Given the description of an element on the screen output the (x, y) to click on. 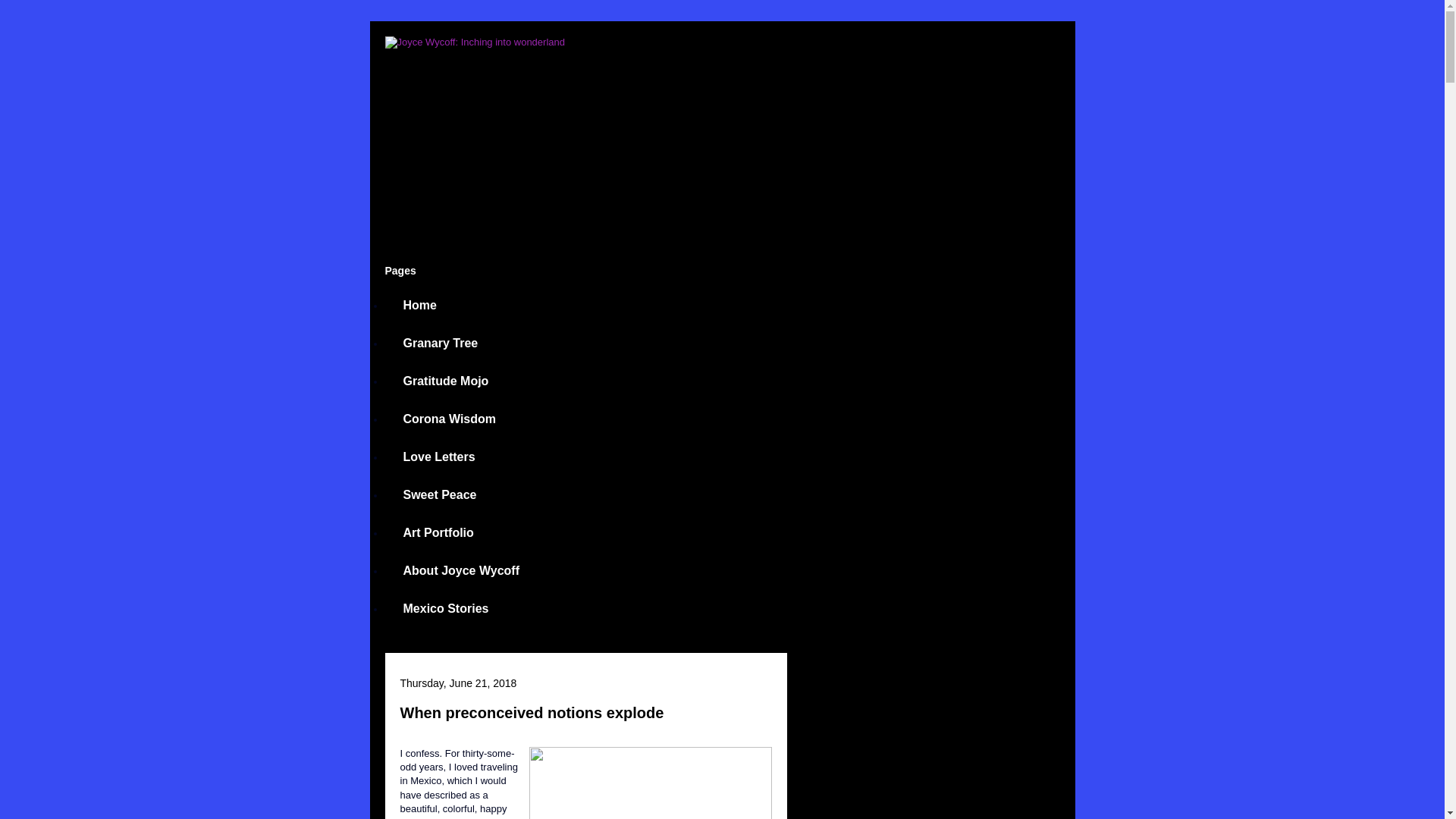
About Joyce Wycoff (461, 570)
Corona Wisdom (450, 419)
Art Portfolio (438, 533)
When preconceived notions explode (531, 712)
Love Letters (439, 456)
Granary Tree (440, 343)
Gratitude Mojo (445, 381)
Mexico Stories (445, 608)
Sweet Peace (440, 494)
Home (419, 305)
